Given the description of an element on the screen output the (x, y) to click on. 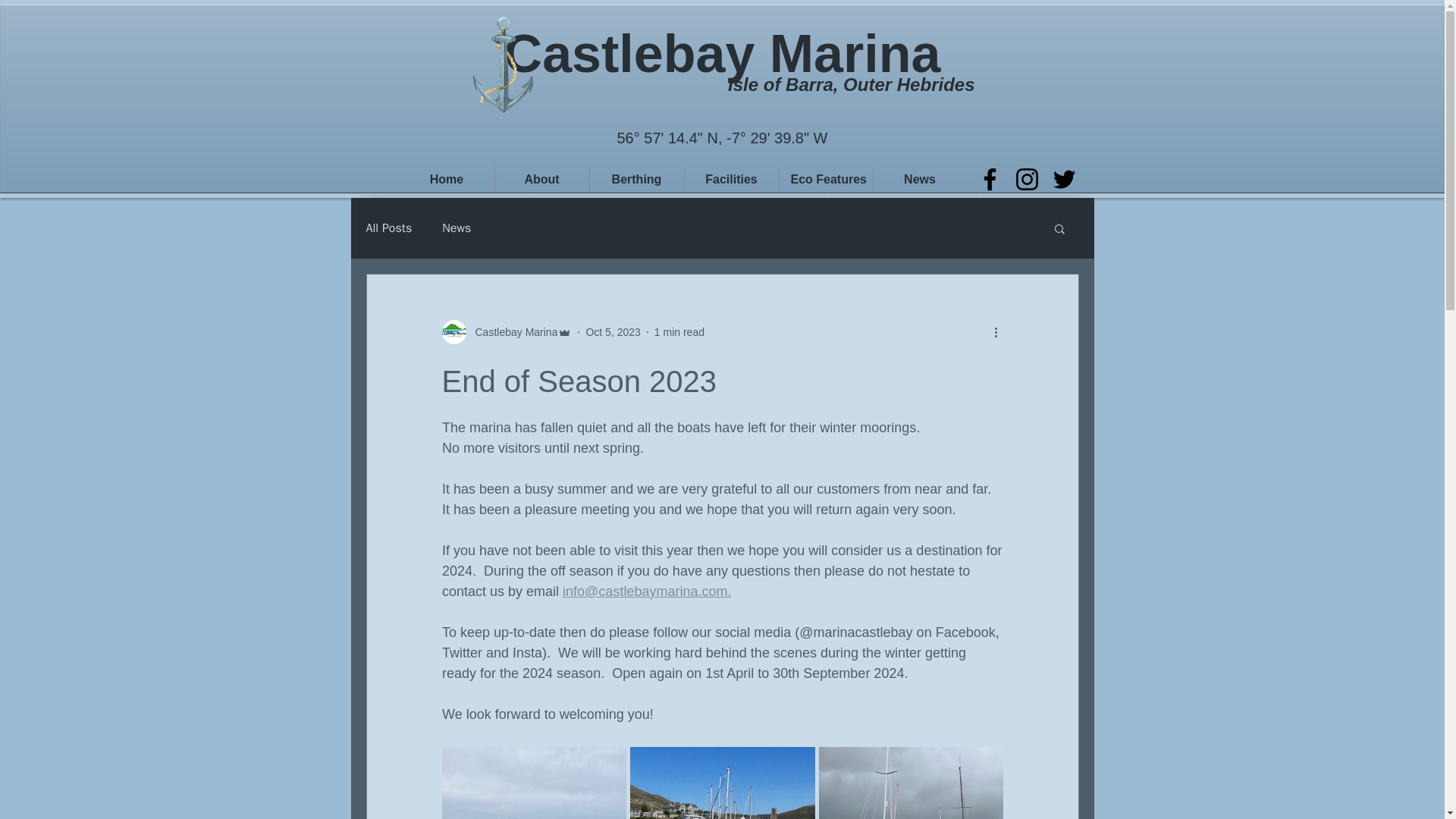
1 min read (678, 331)
News (919, 179)
Facilities (730, 179)
Castlebay Marina (506, 331)
Eco Features (825, 179)
Castlebay Marina (721, 53)
About (541, 179)
Home (445, 179)
Oct 5, 2023 (612, 331)
All Posts (388, 227)
News (456, 227)
Castlebay Marina (511, 332)
Berthing (636, 179)
